Given the description of an element on the screen output the (x, y) to click on. 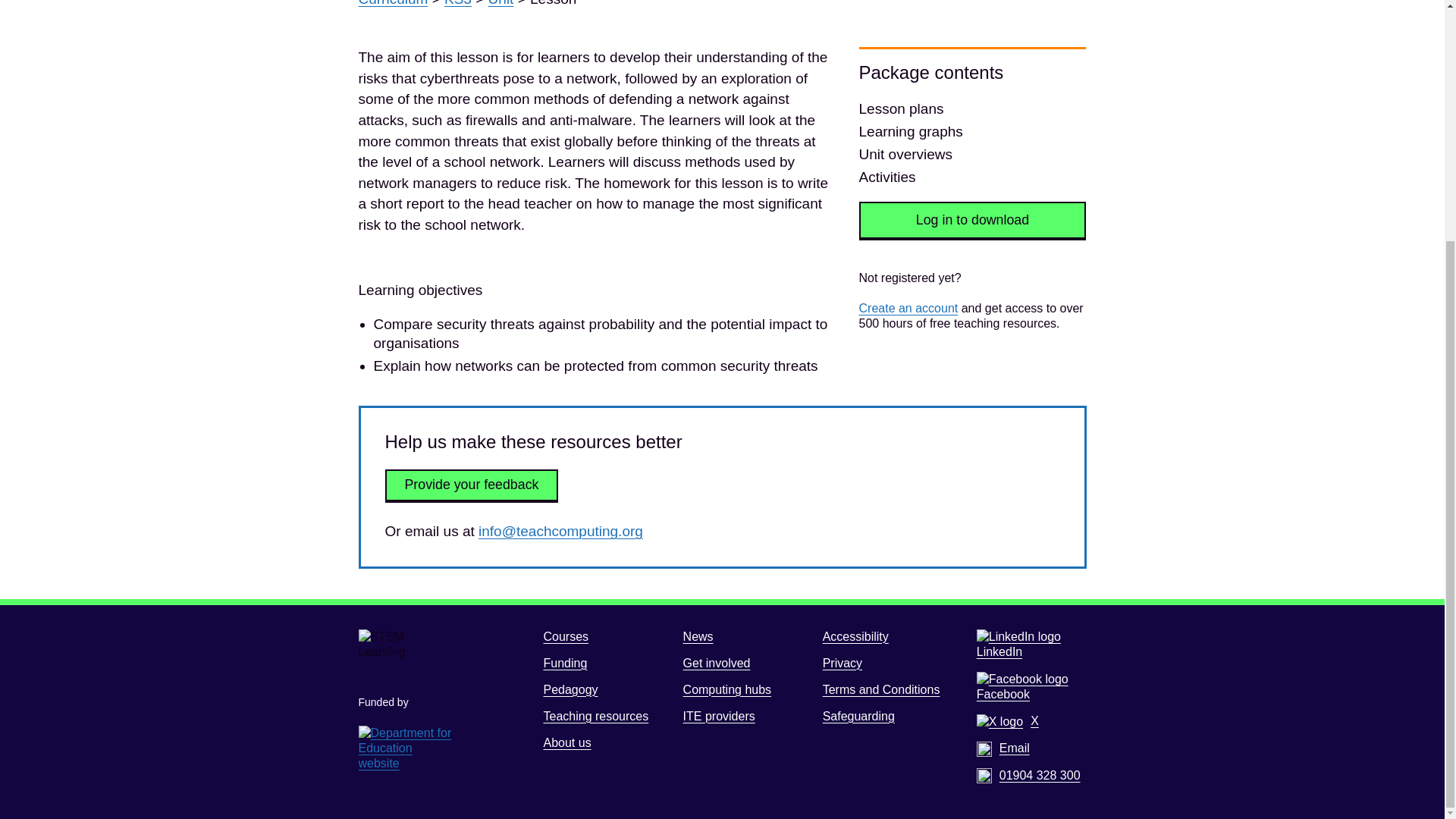
KS3 (457, 3)
Provide your feedback (472, 485)
Unit (500, 3)
Curriculum (393, 3)
Create an account (908, 308)
Log in to download (972, 220)
